Given the description of an element on the screen output the (x, y) to click on. 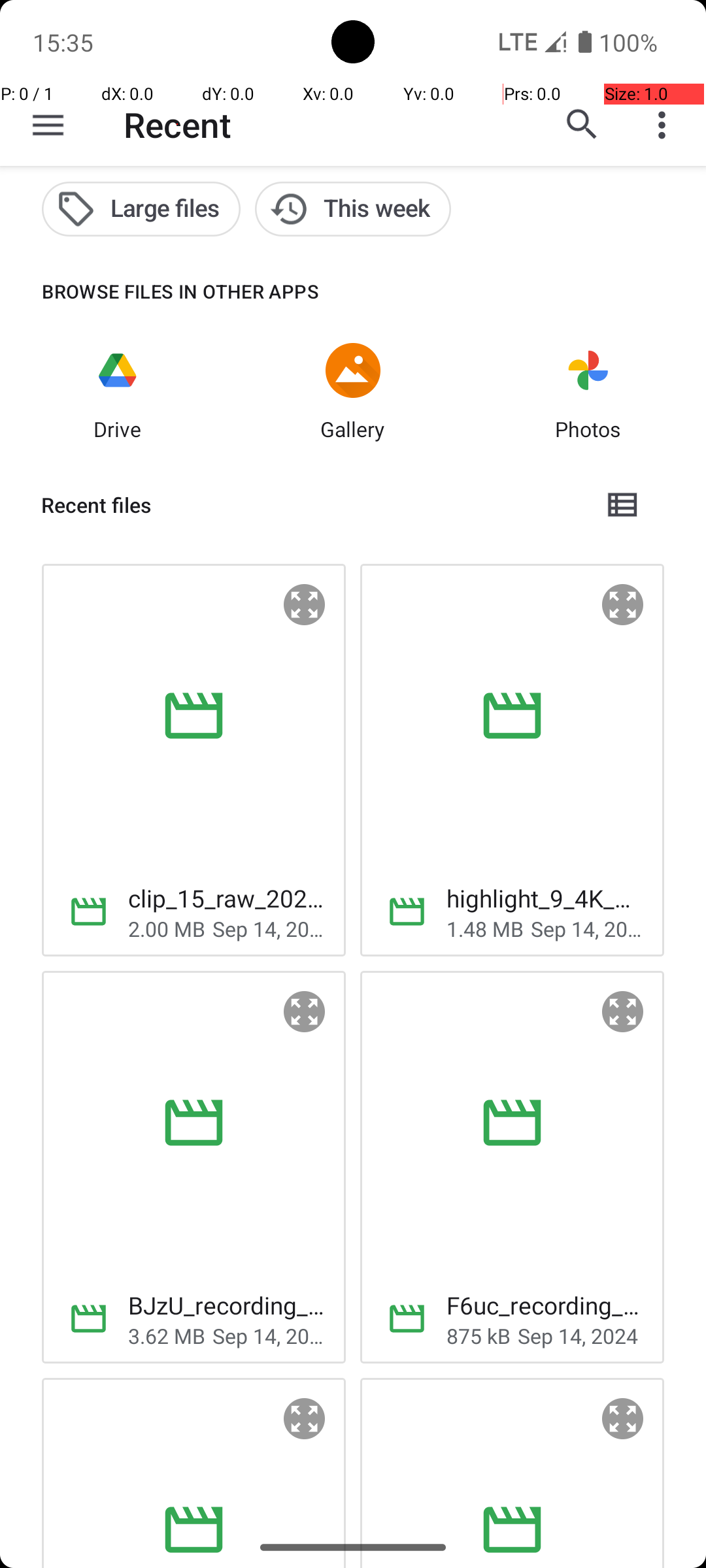
Preview the file clip_15_raw_2023_05_29.mp4 Element type: android.widget.FrameLayout (304, 604)
clip_15_raw_2023_05_29.mp4 Element type: android.widget.TextView (226, 897)
2.00 MB Element type: android.widget.TextView (166, 928)
Sep 14, 2024 Element type: android.widget.TextView (268, 928)
Preview the file highlight_9_4K_UsMM.mp4 Element type: android.widget.FrameLayout (622, 604)
highlight_9_4K_UsMM.mp4 Element type: android.widget.TextView (544, 897)
1.48 MB Element type: android.widget.TextView (484, 928)
Preview the file BJzU_recording_19_4K.mp4 Element type: android.widget.FrameLayout (304, 1011)
BJzU_recording_19_4K.mp4 Element type: android.widget.TextView (226, 1304)
3.62 MB Element type: android.widget.TextView (166, 1335)
Preview the file F6uc_recording_24_HD.mp4 Element type: android.widget.FrameLayout (622, 1011)
F6uc_recording_24_HD.mp4 Element type: android.widget.TextView (544, 1304)
875 kB Element type: android.widget.TextView (478, 1335)
Preview the file edited_moment_99_export.mp4 Element type: android.widget.FrameLayout (304, 1418)
Preview the file VncS_scene_69_.mp4 Element type: android.widget.FrameLayout (622, 1418)
